Given the description of an element on the screen output the (x, y) to click on. 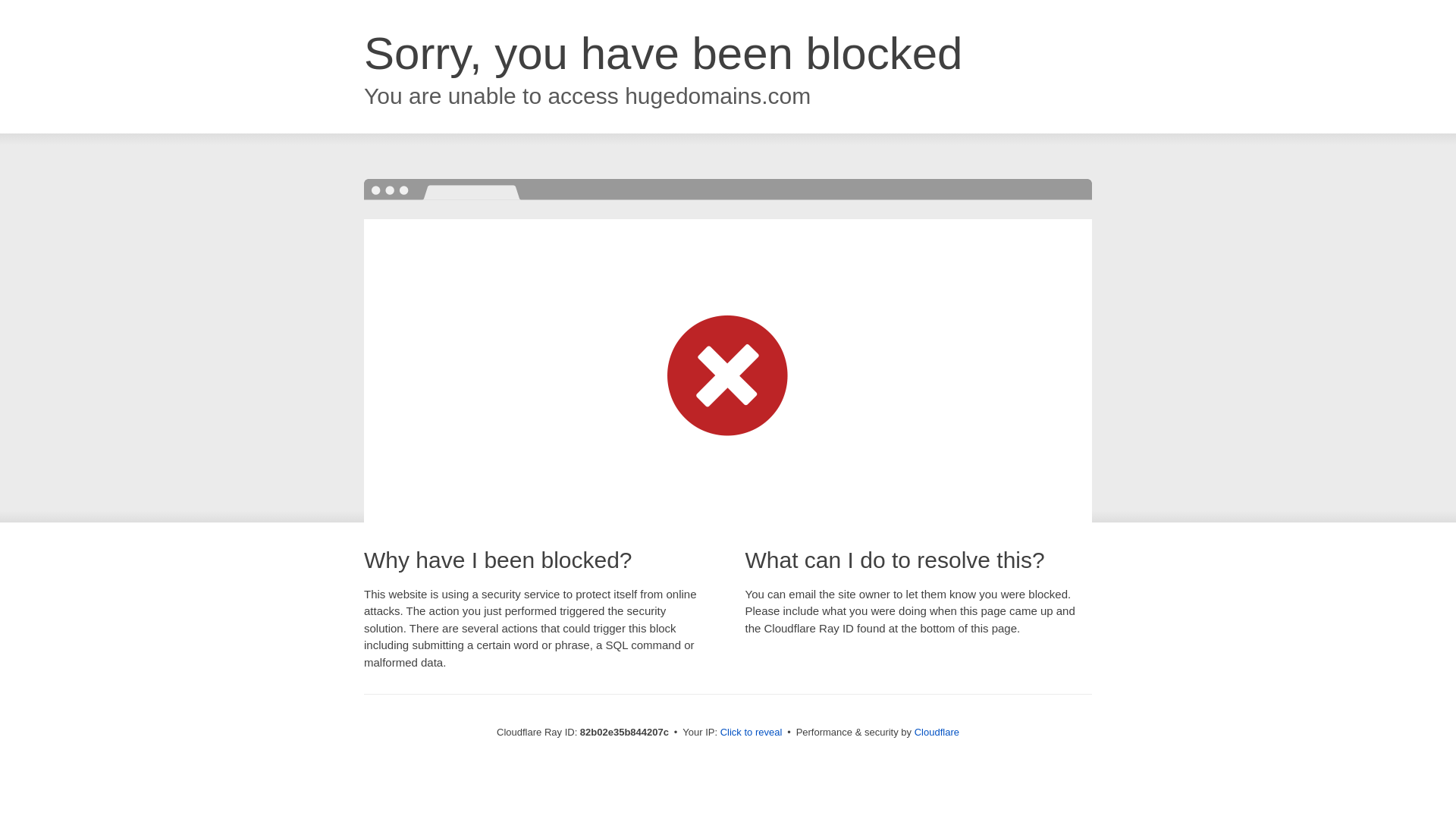
Cloudflare Element type: text (936, 731)
Click to reveal Element type: text (751, 732)
